Given the description of an element on the screen output the (x, y) to click on. 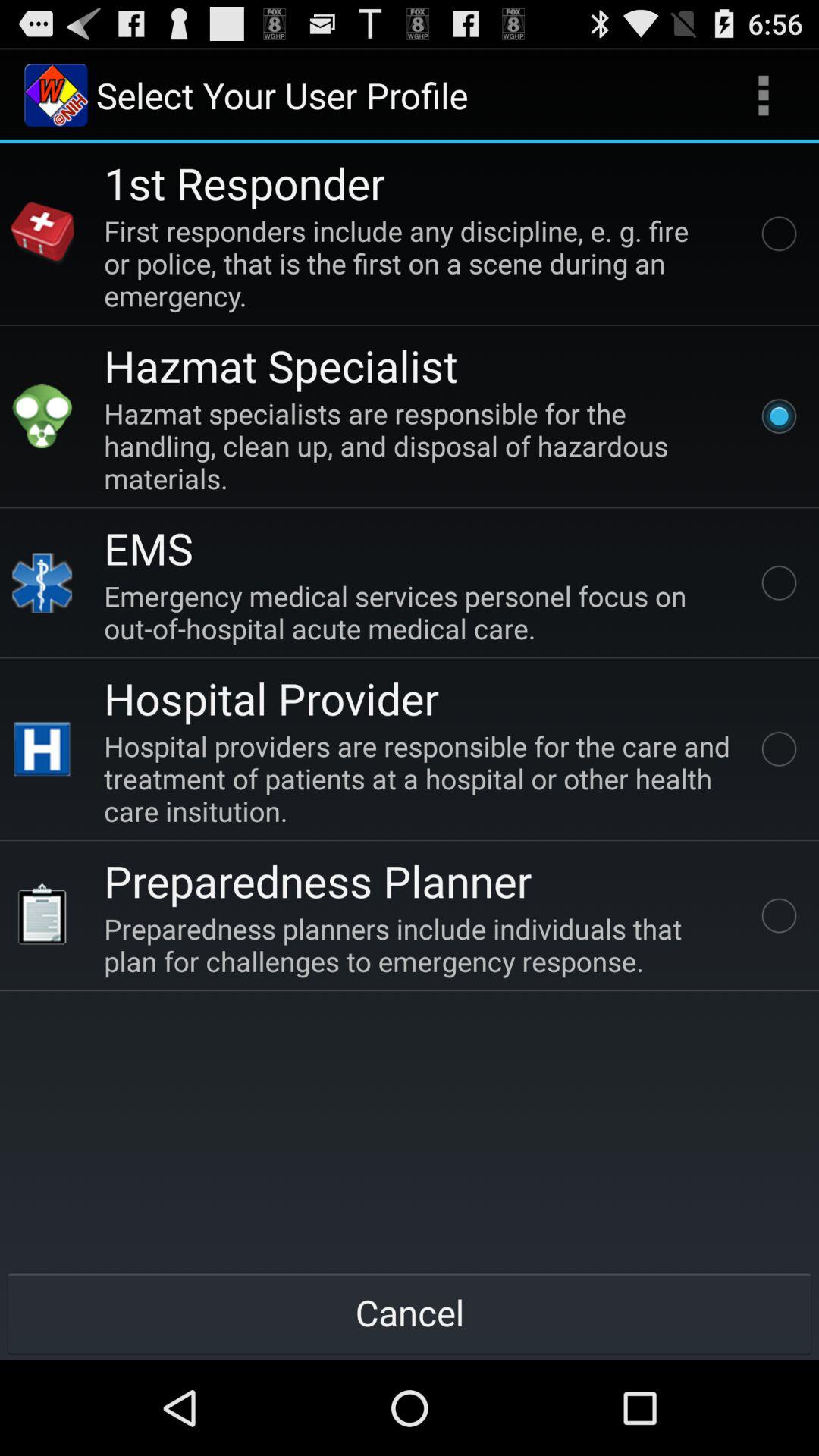
choose item above hazmat specialist (420, 263)
